Given the description of an element on the screen output the (x, y) to click on. 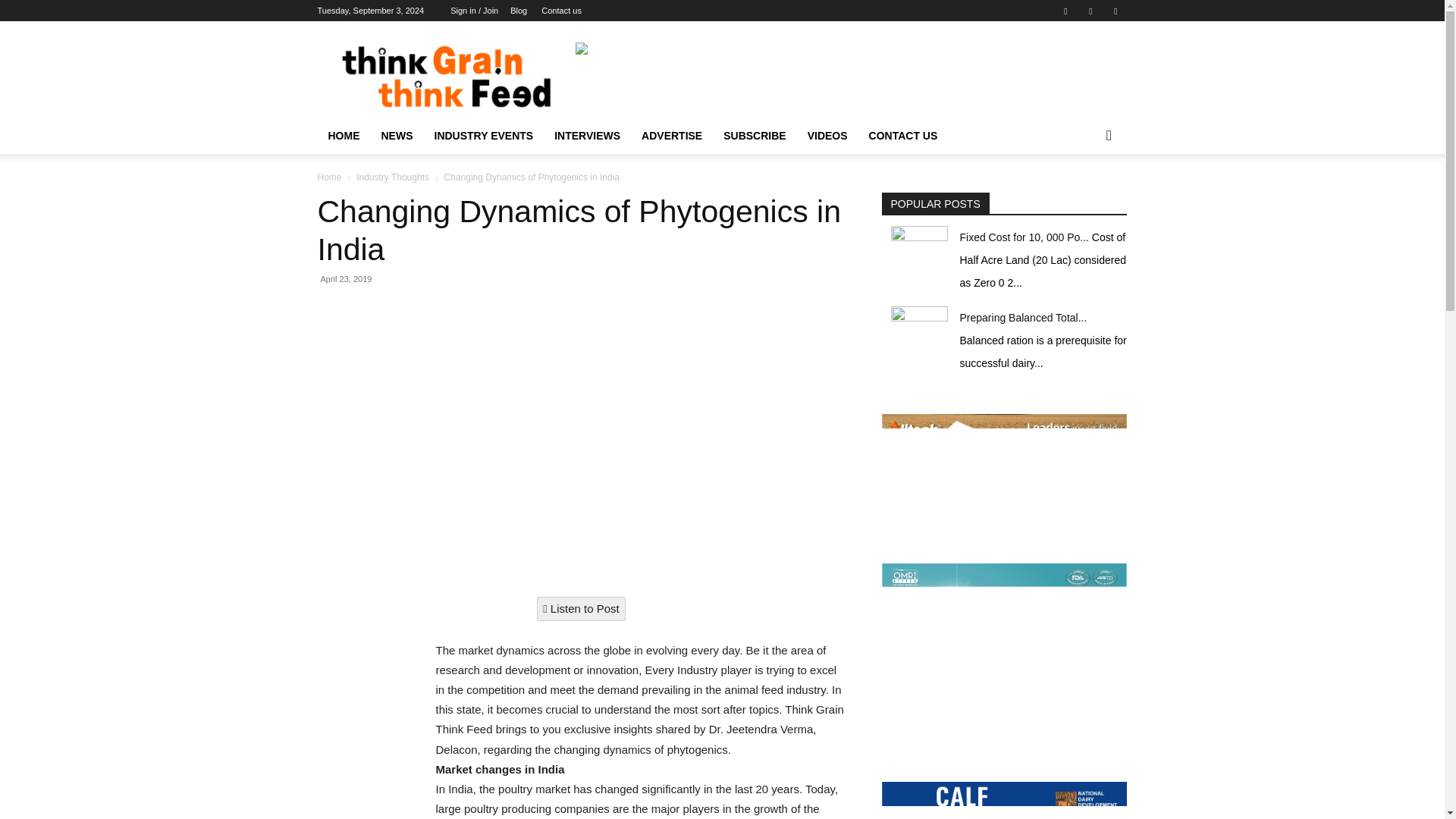
HOME (343, 135)
Facebook (1065, 10)
View all posts in Industry Thoughts (392, 176)
Contact us (560, 10)
NEWS (396, 135)
Blog (519, 10)
Linkedin (1090, 10)
Twitter (1114, 10)
